Given the description of an element on the screen output the (x, y) to click on. 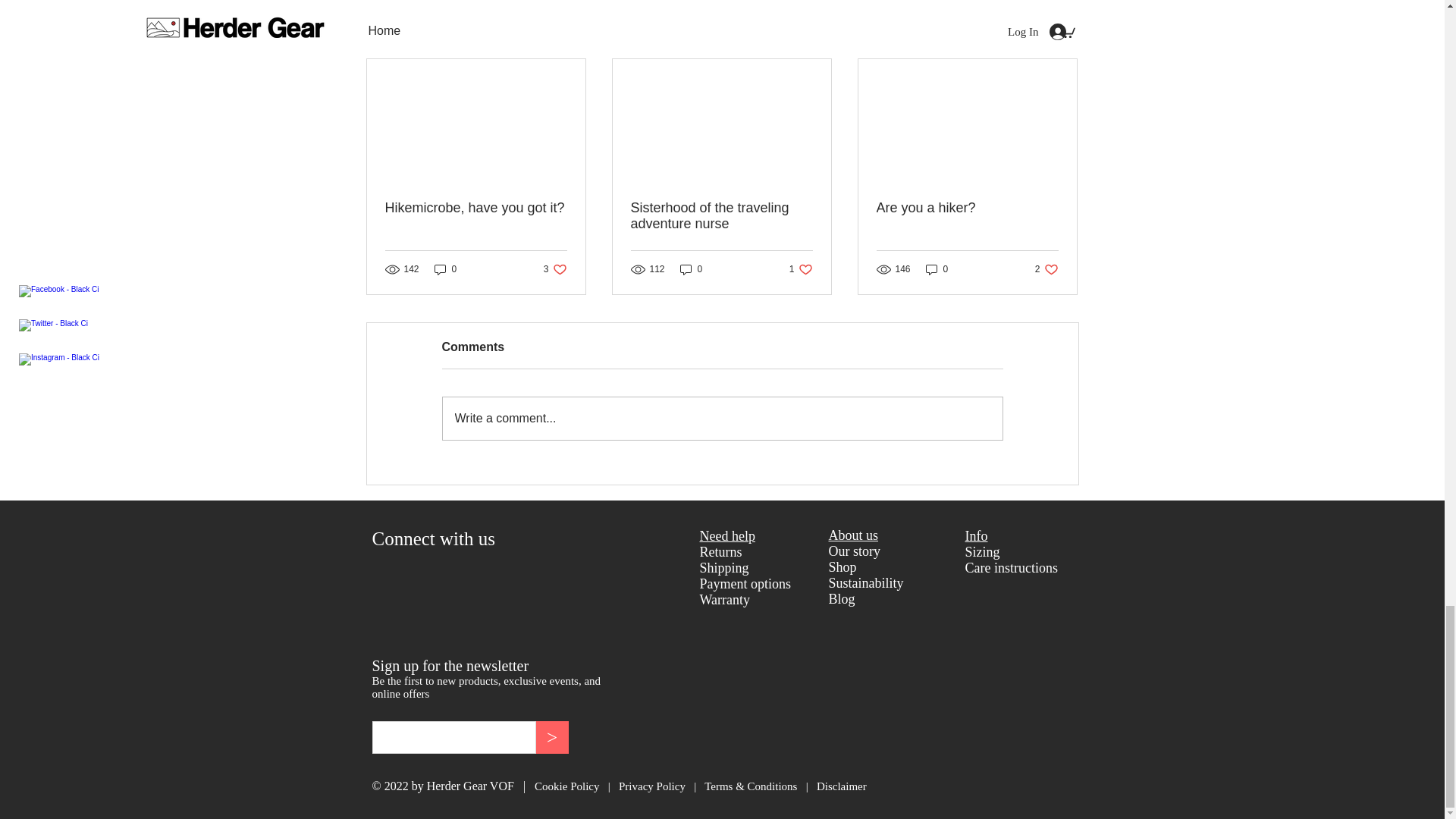
Are you a hiker? (967, 207)
0 (445, 269)
0 (937, 269)
0 (691, 269)
Hikemicrobe, have you got it? (476, 207)
Sisterhood of the traveling adventure nurse (555, 269)
See All (721, 215)
